Given the description of an element on the screen output the (x, y) to click on. 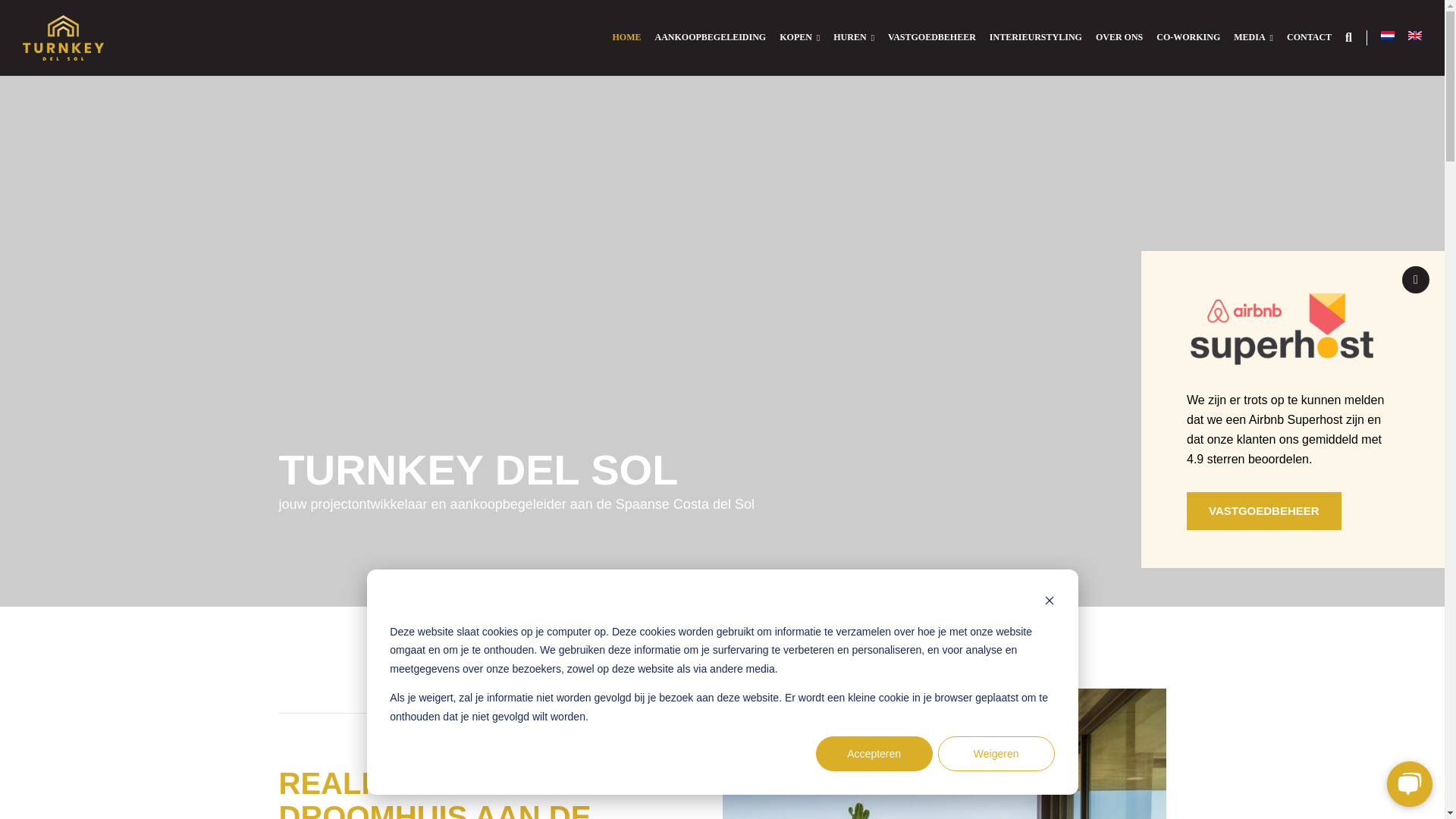
INTERIEURSTYLING (1035, 37)
KOPEN (798, 37)
VASTGOEDBEHEER (931, 37)
MEDIA (1252, 37)
HUREN (853, 37)
AANKOOPBEGELEIDING (711, 37)
CONTACT (1309, 37)
OVER ONS (1119, 37)
CO-WORKING (1188, 37)
